Given the description of an element on the screen output the (x, y) to click on. 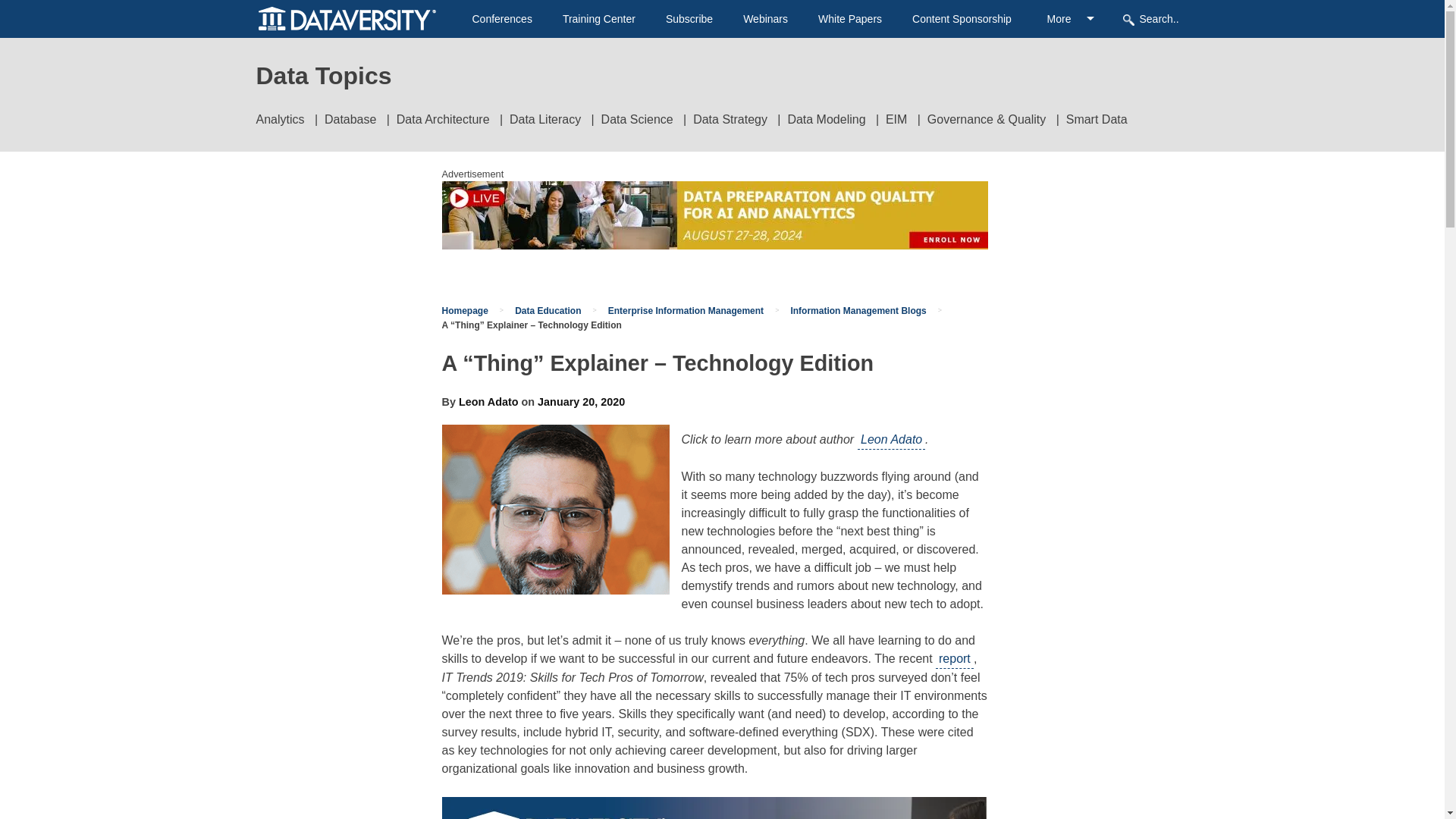
Data Science (636, 119)
Data Strategy (730, 119)
White Papers (850, 19)
Smart Data (1095, 119)
Data Modeling (825, 119)
Homepage (464, 310)
Data Architecture (442, 119)
Data Literacy (544, 119)
Subscribe (689, 19)
Data Education (547, 310)
